Given the description of an element on the screen output the (x, y) to click on. 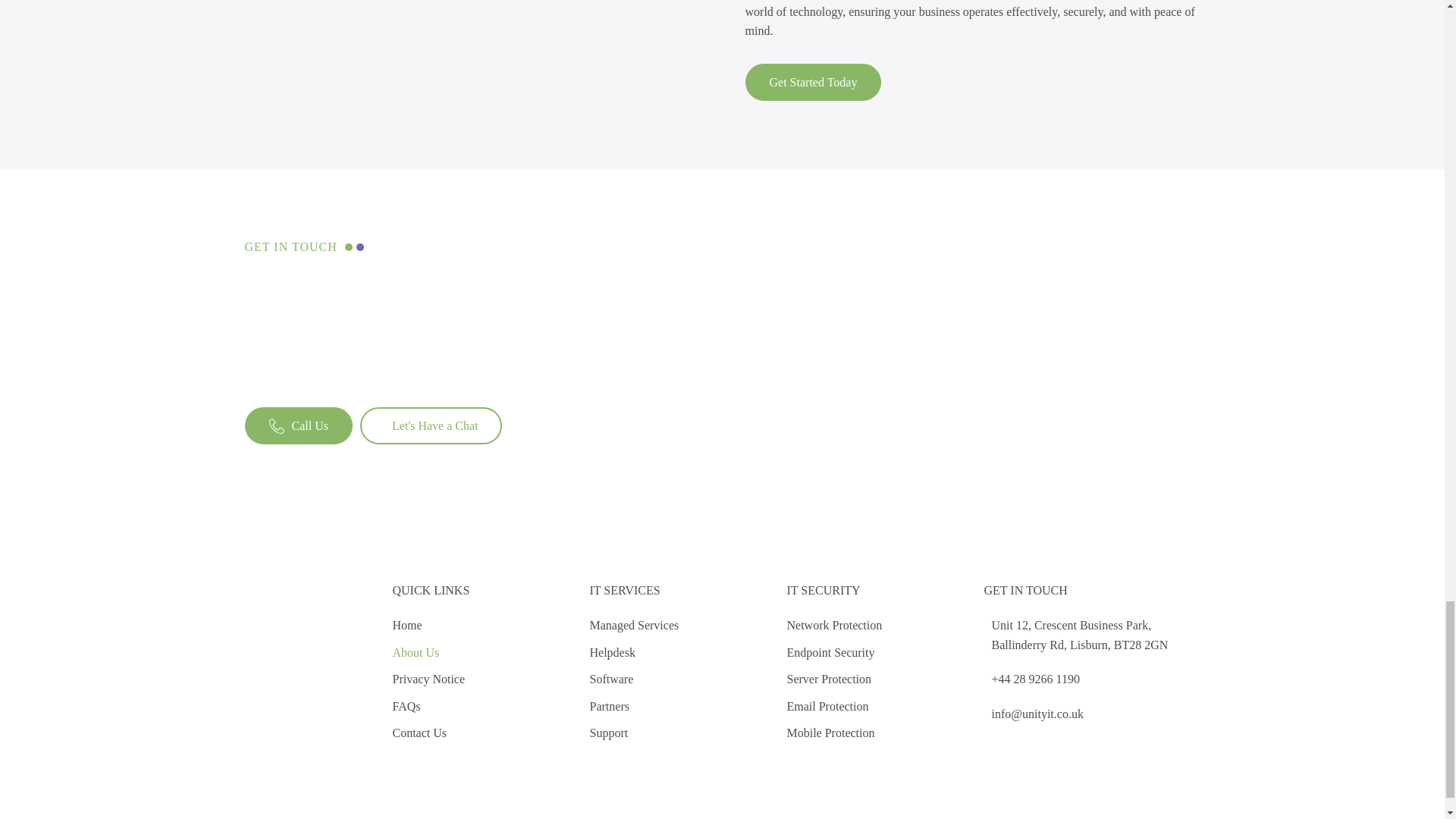
Let's Have a Chat (430, 426)
Get Started Today (812, 82)
Contact Us (429, 732)
Partners (634, 706)
Call Us (298, 426)
FAQs (429, 706)
Software (634, 679)
Server Protection (834, 679)
Support (634, 732)
Home (429, 625)
